Given the description of an element on the screen output the (x, y) to click on. 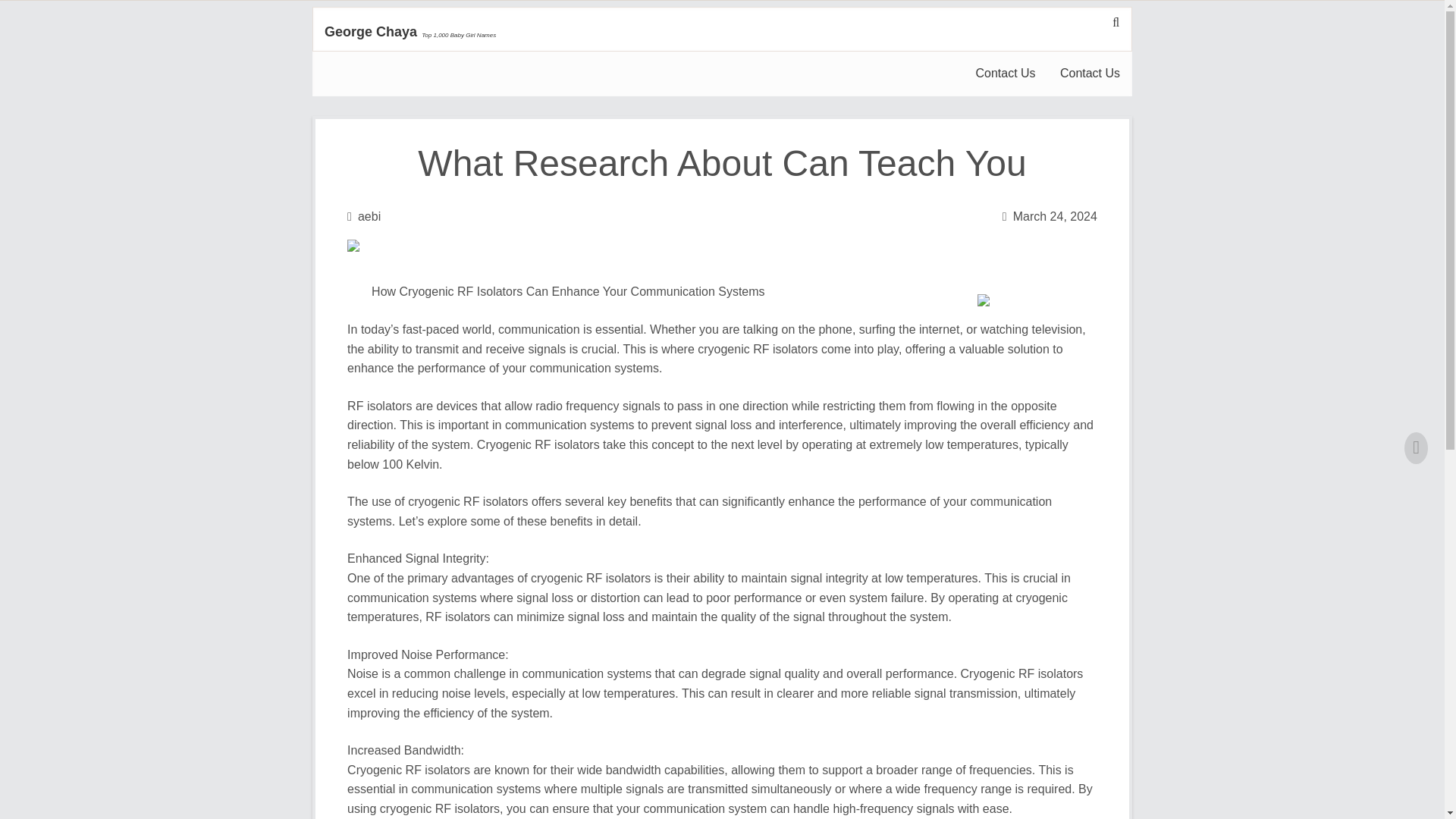
Contact Us (1090, 73)
George Chaya (370, 32)
Contact Us (1004, 73)
